Given the description of an element on the screen output the (x, y) to click on. 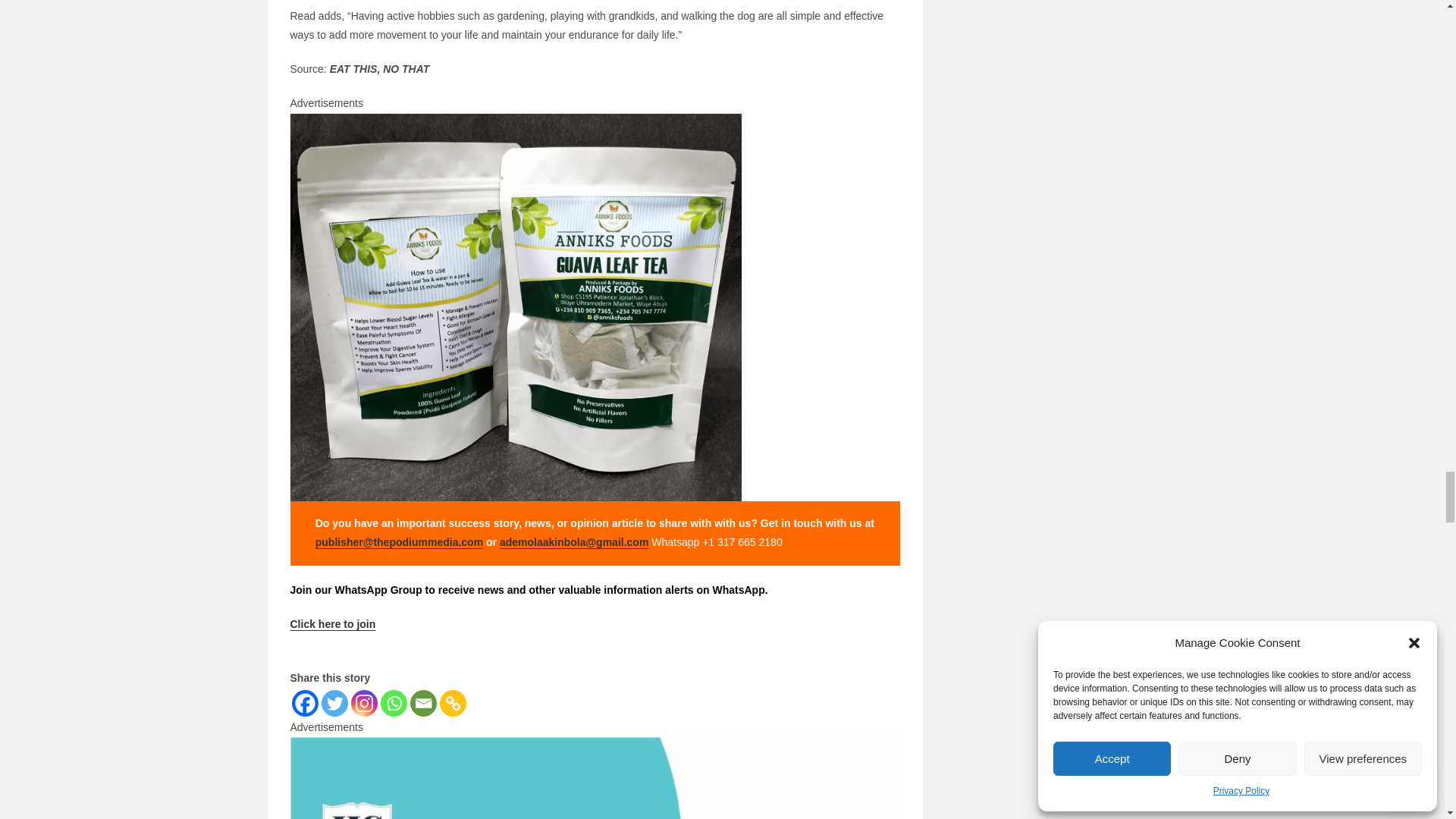
Facebook (304, 703)
Twitter (334, 703)
Instagram (363, 703)
